Given the description of an element on the screen output the (x, y) to click on. 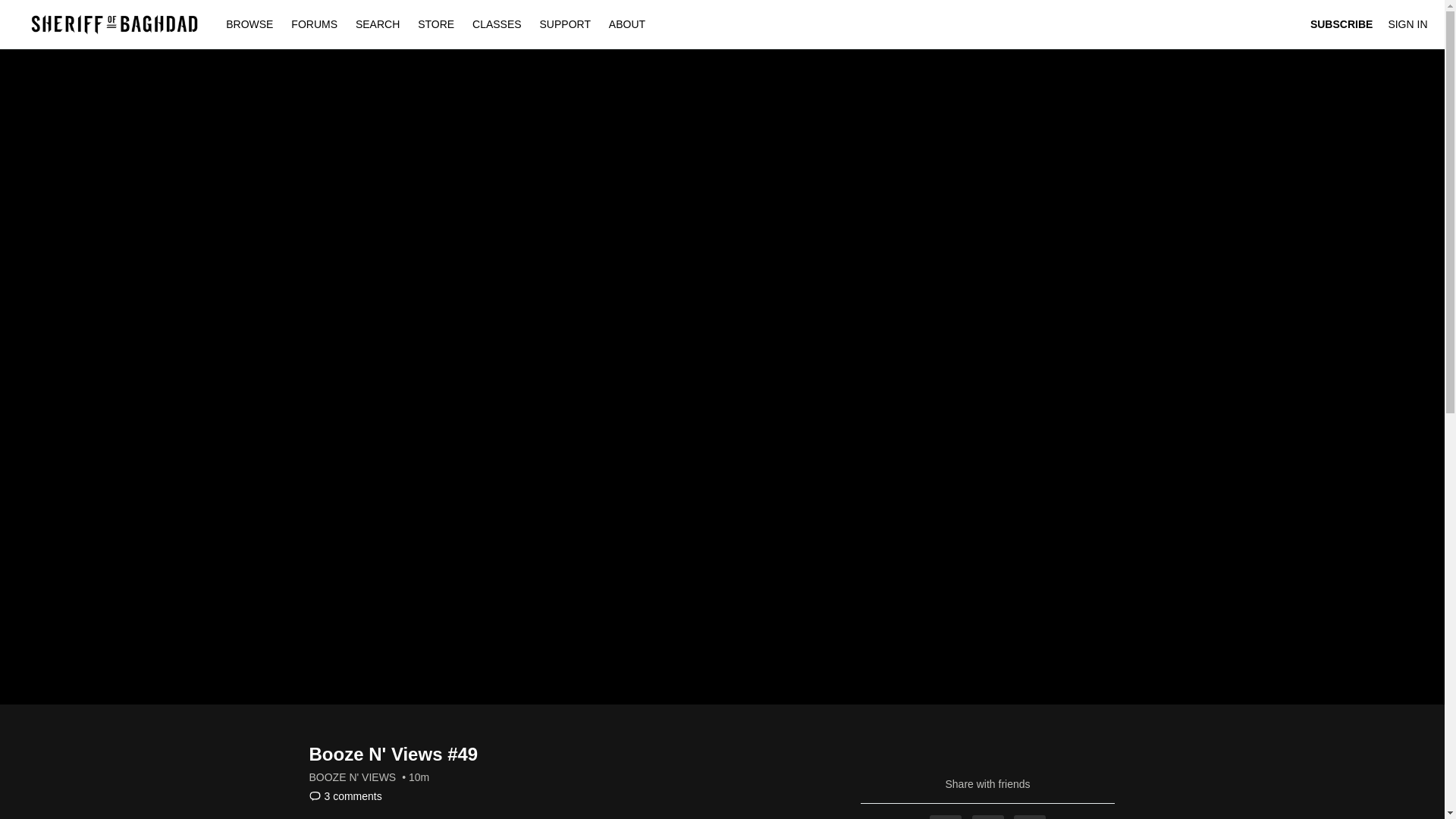
CLASSES (496, 24)
ABOUT (626, 24)
Twitter (988, 816)
Skip to main content (48, 7)
Email (1029, 816)
BROWSE (250, 24)
3 comments (344, 796)
SUPPORT (565, 24)
BOOZE N' VIEWS (352, 776)
FORUMS (315, 24)
SUBSCRIBE (1341, 24)
SEARCH (378, 24)
Facebook (945, 816)
STORE (435, 24)
View Latest Comments (344, 796)
